Given the description of an element on the screen output the (x, y) to click on. 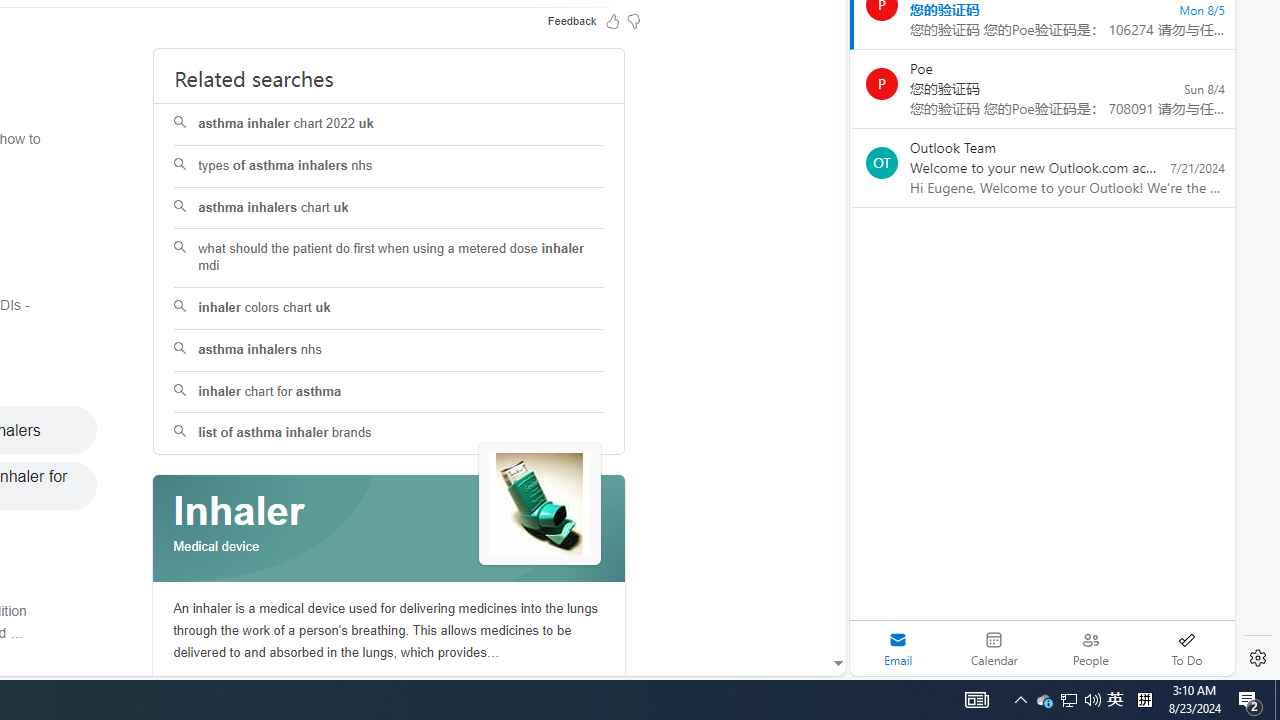
asthma inhaler chart 2022 uk (389, 124)
Feedback Dislike (633, 20)
People (1090, 648)
See more images of Inhaler (539, 503)
Calendar. Date today is 22 (994, 648)
types of asthma inhalers nhs (388, 165)
asthma inhalers nhs (388, 349)
asthma inhalers chart uk (389, 208)
inhaler chart for asthma (388, 391)
types of asthma inhalers nhs (389, 165)
asthma inhalers nhs (389, 350)
